Given the description of an element on the screen output the (x, y) to click on. 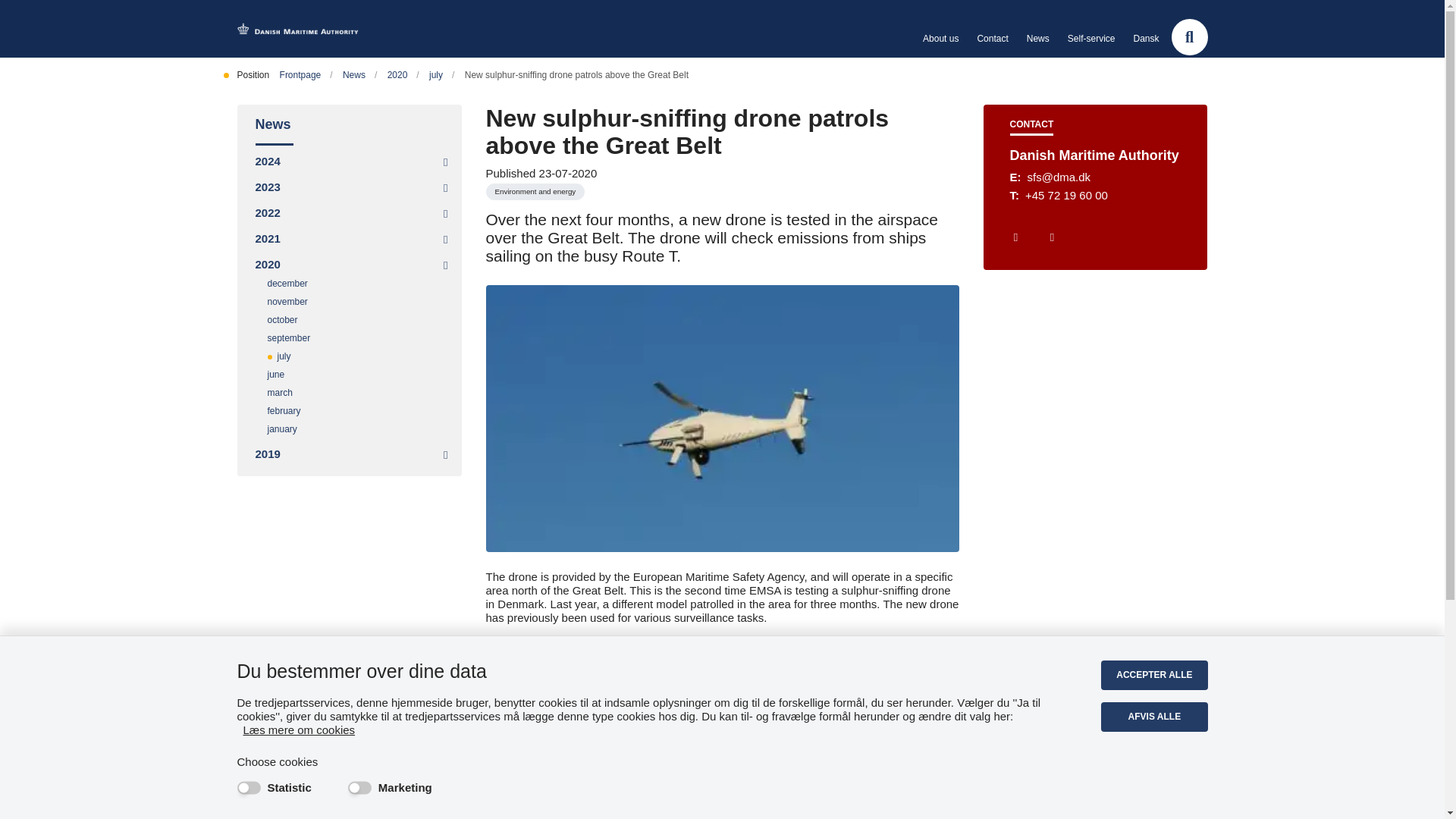
july (441, 74)
Frontpage (306, 74)
2024 (276, 161)
2020 (403, 74)
About us (940, 38)
News (359, 74)
Self-service (1091, 38)
Dansk (1145, 38)
Contact (991, 38)
News (348, 124)
